Given the description of an element on the screen output the (x, y) to click on. 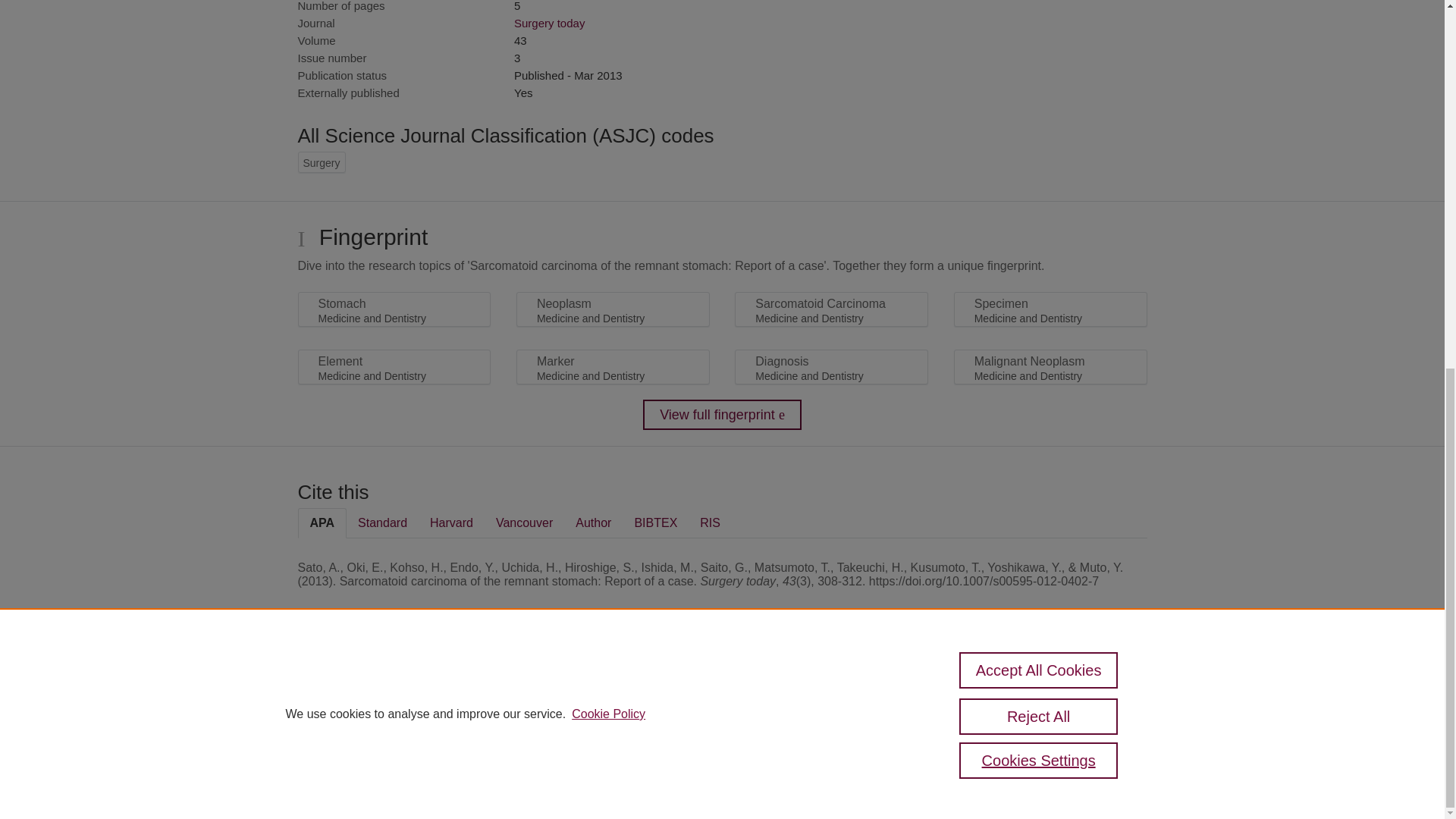
View full fingerprint (722, 414)
Scopus (394, 686)
Pure (362, 686)
Surgery today (549, 22)
Elsevier B.V. (506, 707)
